Given the description of an element on the screen output the (x, y) to click on. 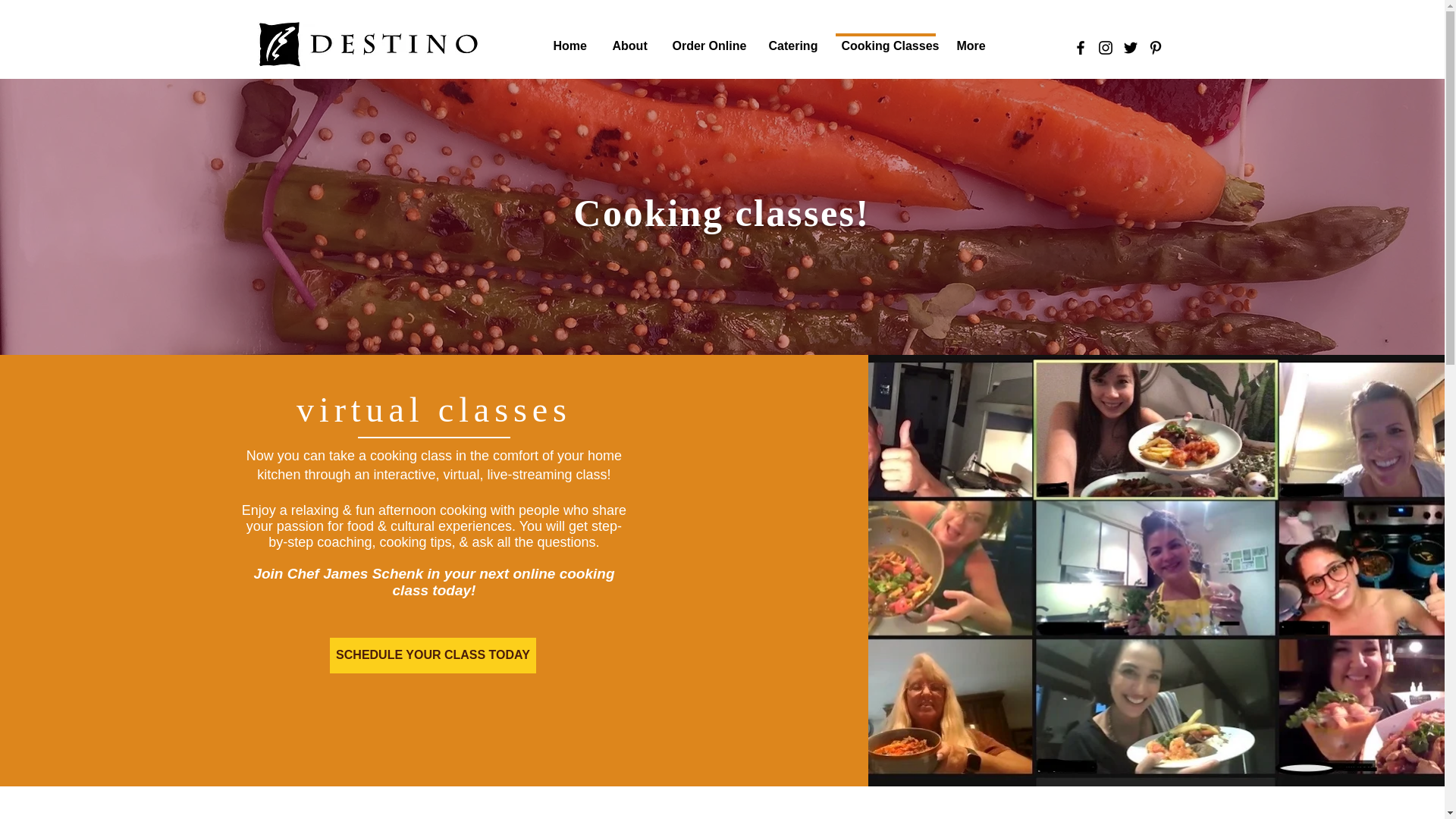
Catering (791, 39)
Cooking Classes (885, 39)
SCHEDULE YOUR CLASS TODAY (432, 655)
Home (569, 39)
About (628, 39)
Order Online (706, 39)
